Given the description of an element on the screen output the (x, y) to click on. 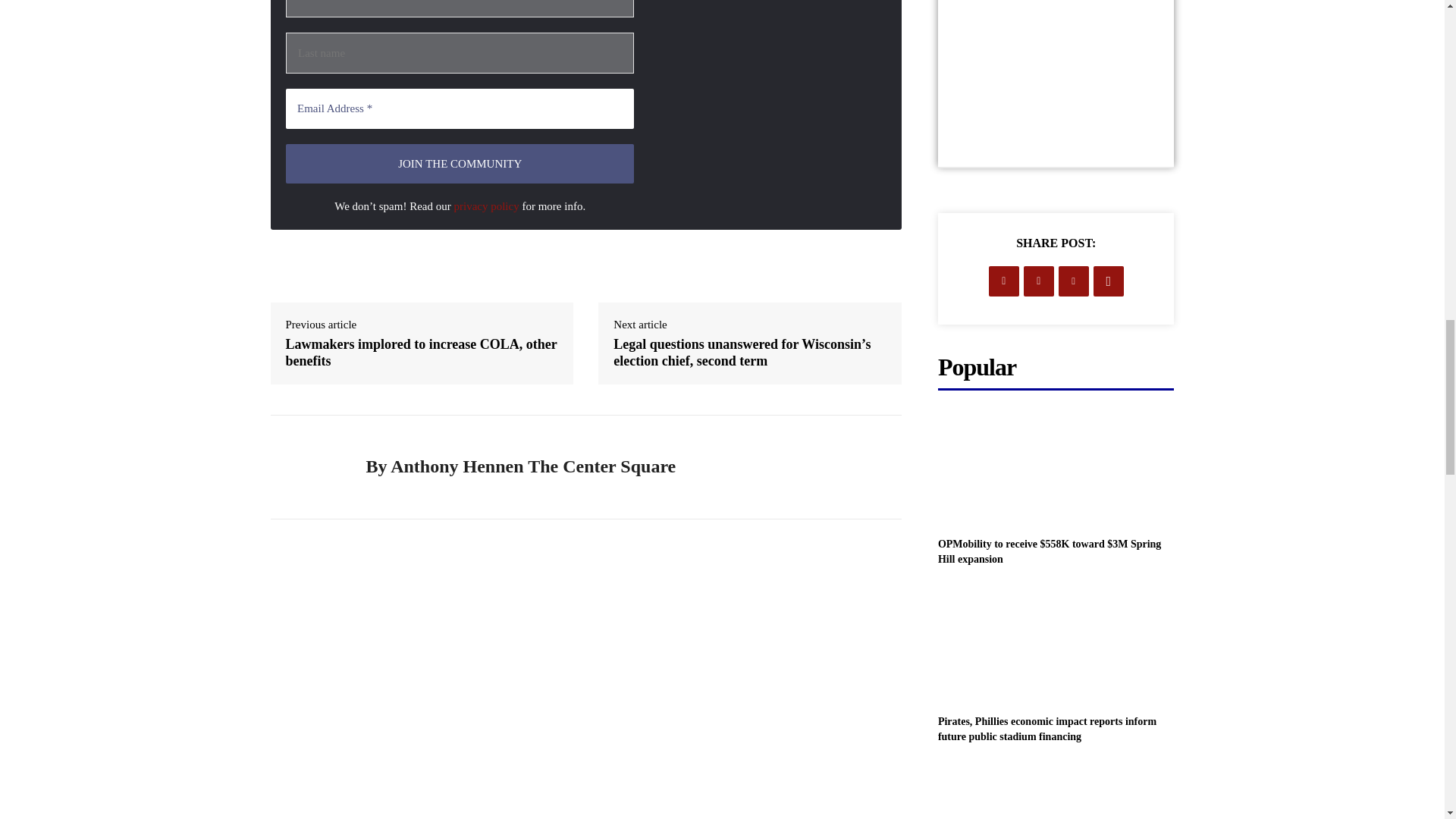
JOIN THE COMMUNITY (459, 164)
